Given the description of an element on the screen output the (x, y) to click on. 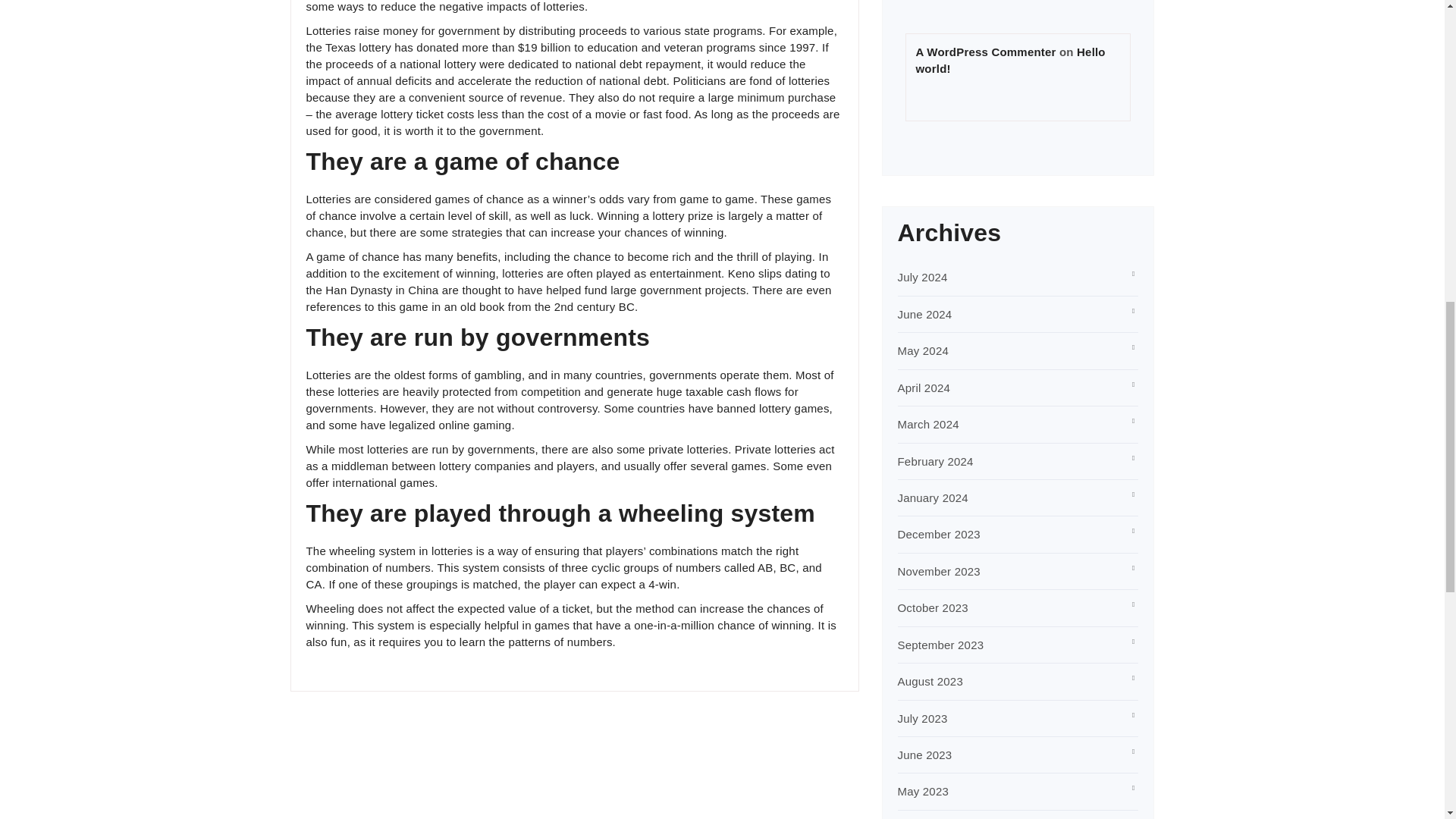
A WordPress Commenter (986, 51)
June 2024 (925, 314)
Hello world! (1010, 60)
July 2024 (922, 277)
